Given the description of an element on the screen output the (x, y) to click on. 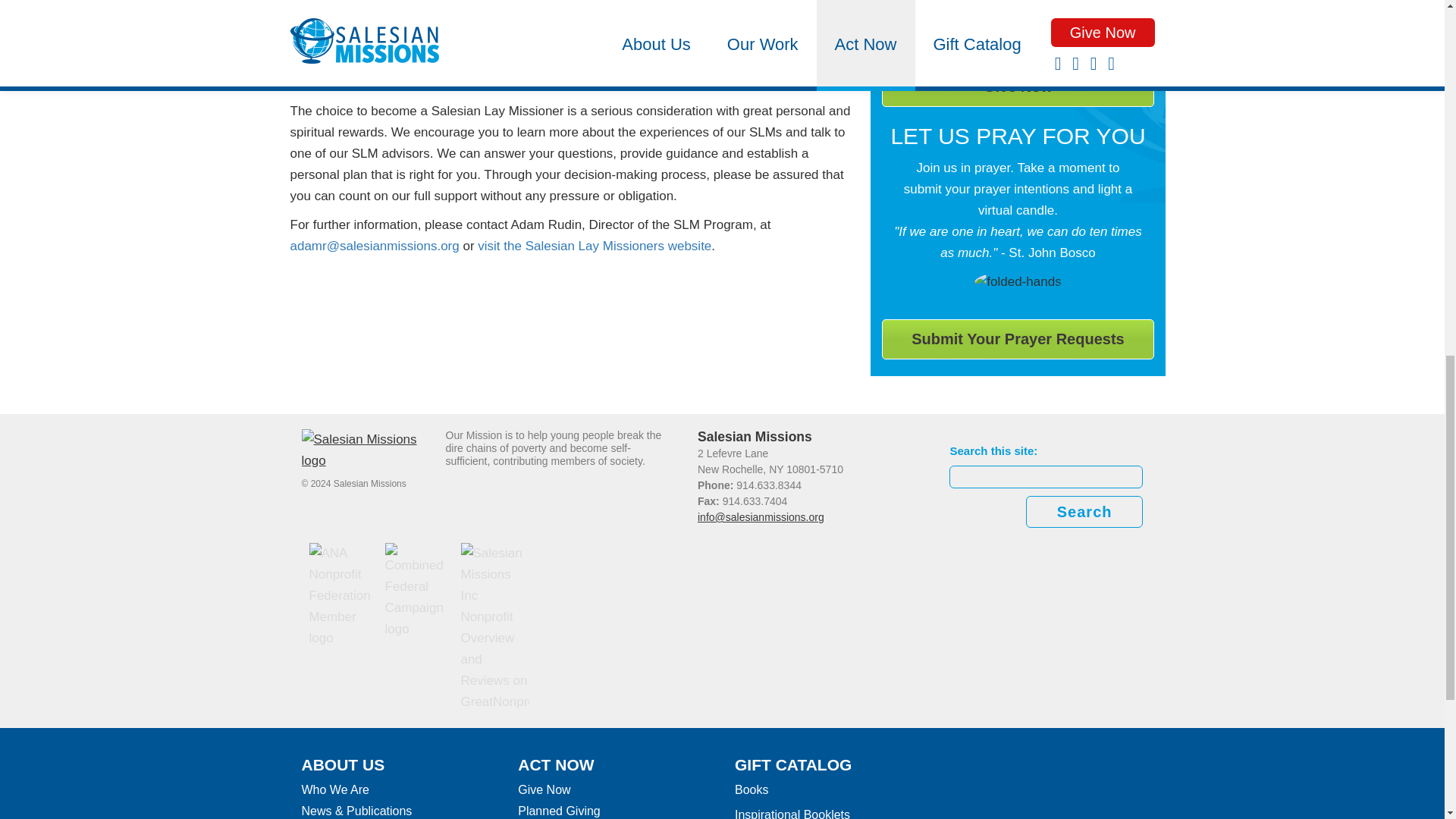
Give (1017, 86)
get-involved-right-img (1017, 281)
stories03 (1017, 20)
Submit Your Prayer (1017, 339)
